Given the description of an element on the screen output the (x, y) to click on. 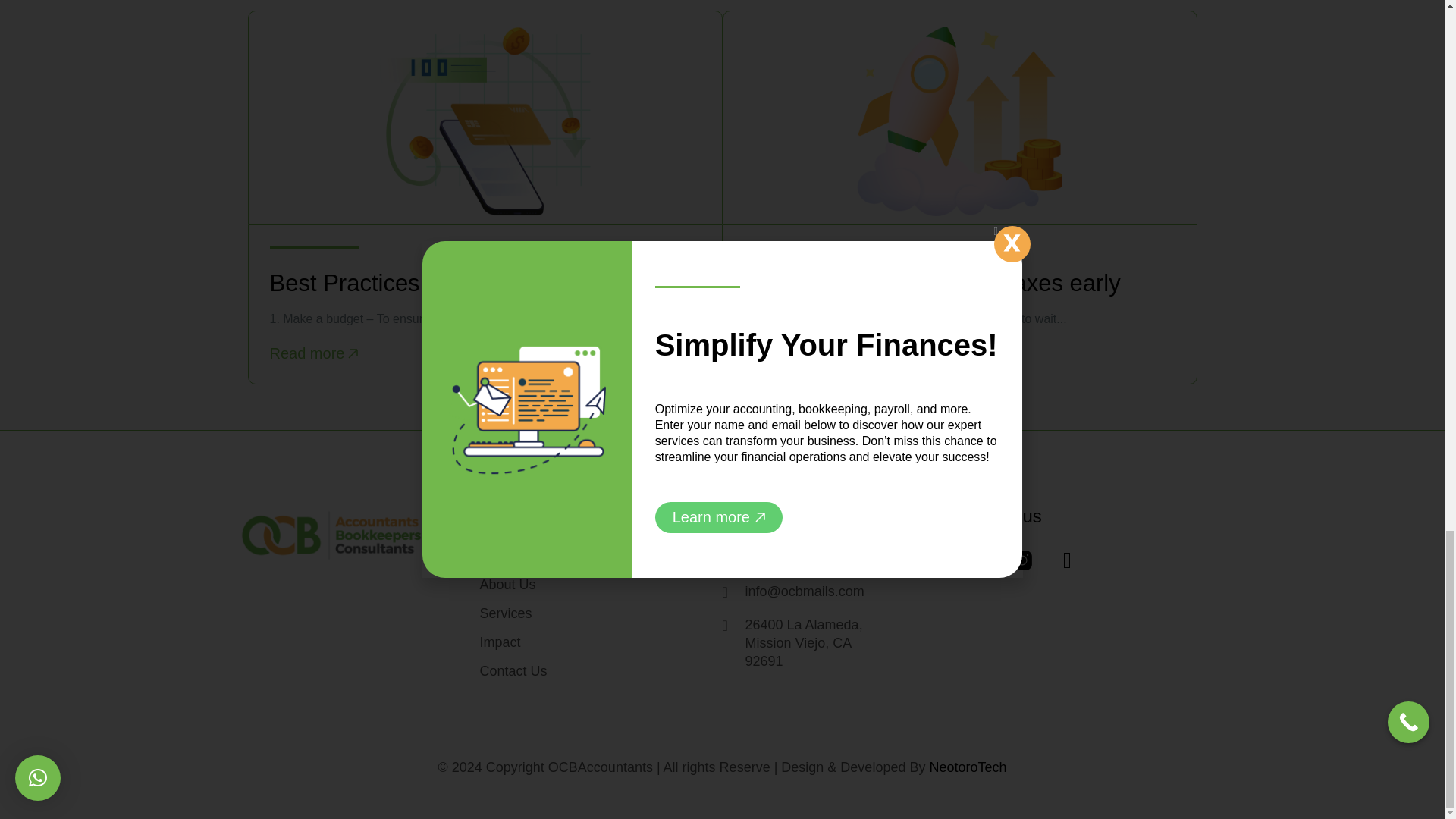
Contact Us (513, 671)
Impact (499, 642)
949-215-6200 (805, 557)
Services (505, 612)
Read more (313, 353)
About Us (507, 584)
Read more (788, 353)
Home (497, 555)
